Given the description of an element on the screen output the (x, y) to click on. 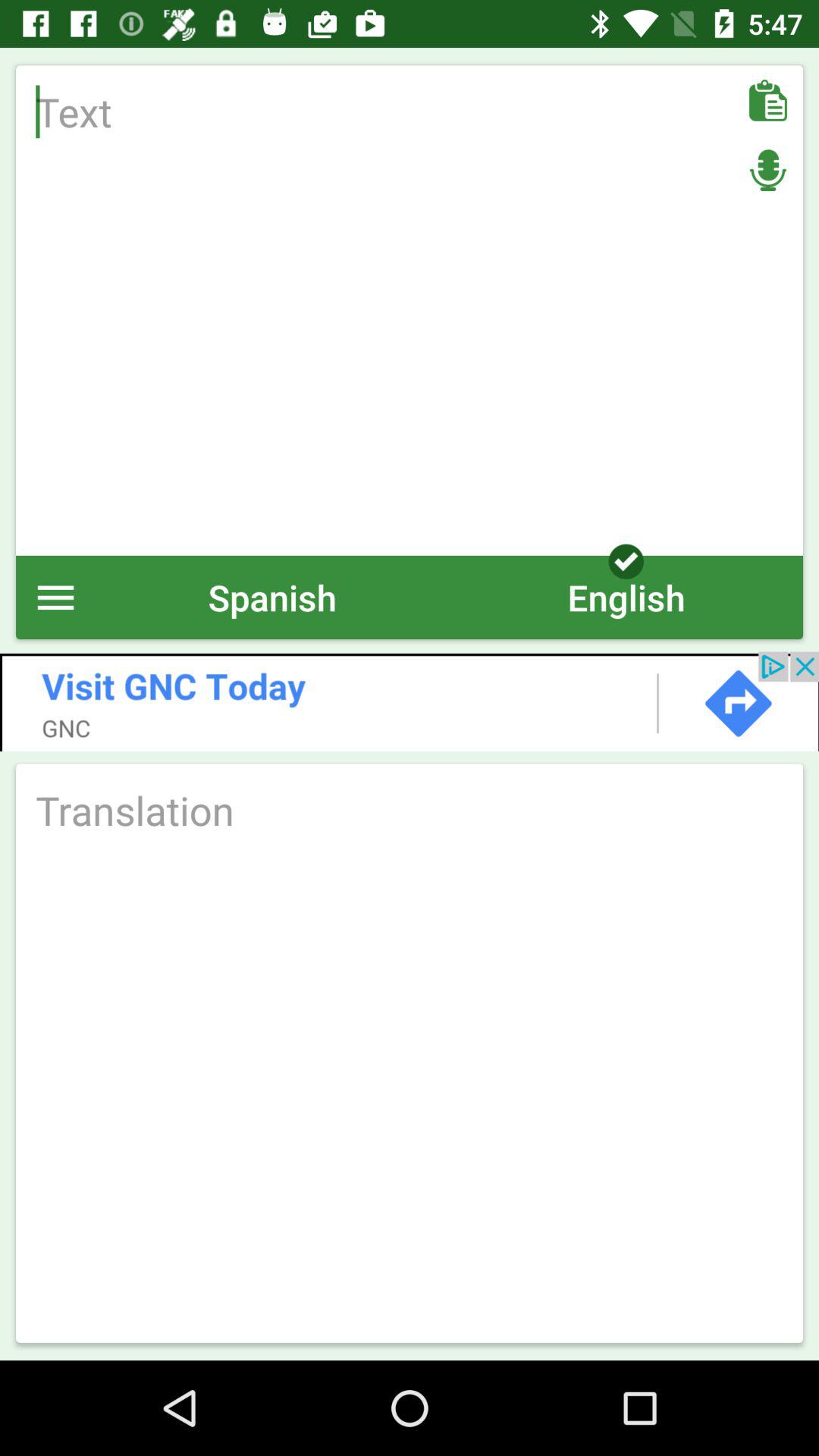
paste text (768, 100)
